Given the description of an element on the screen output the (x, y) to click on. 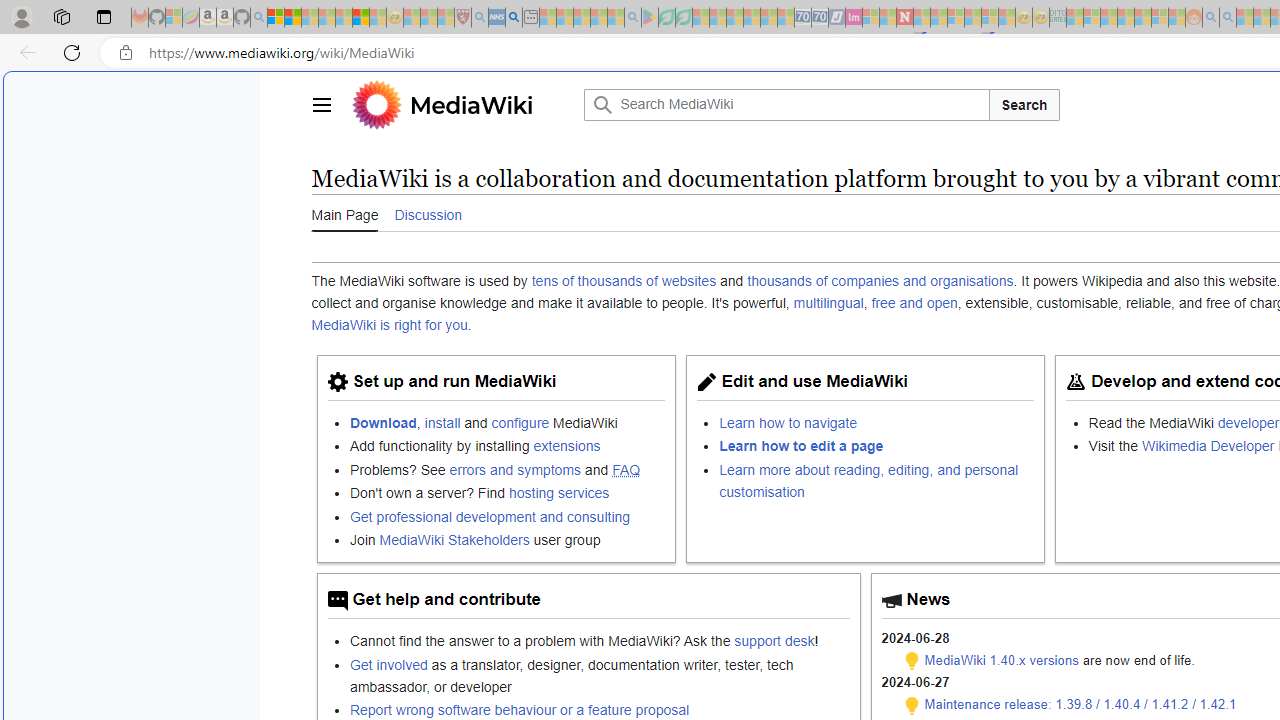
Bluey: Let's Play! - Apps on Google Play - Sleeping (649, 17)
MediaWiki 1.40.x versions (1001, 660)
Get involved (388, 664)
Maintenance update (911, 705)
Get professional development and consulting (490, 516)
Main menu (320, 104)
support desk (774, 641)
MediaWiki (471, 104)
